Given the description of an element on the screen output the (x, y) to click on. 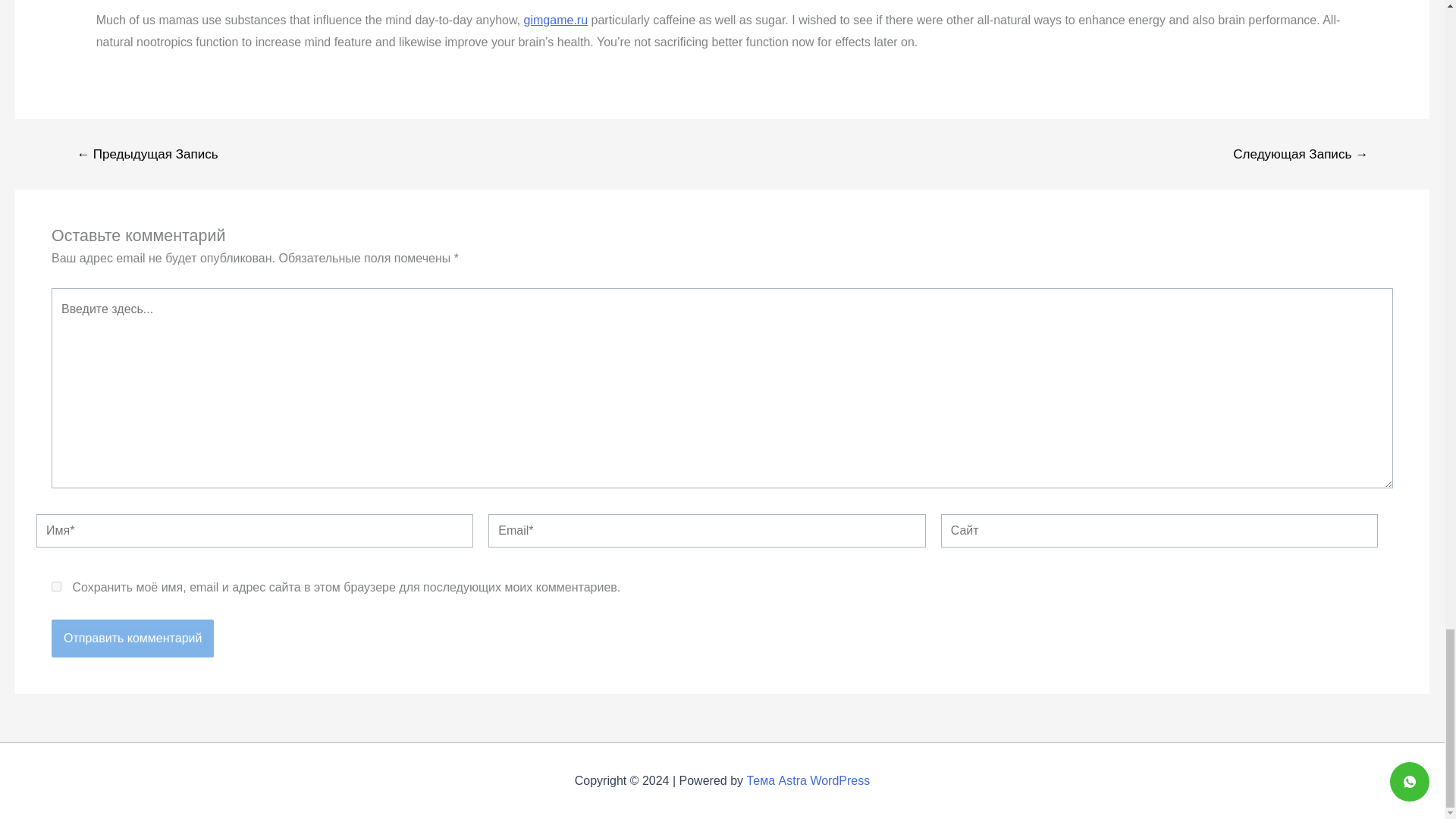
yes (55, 586)
